Given the description of an element on the screen output the (x, y) to click on. 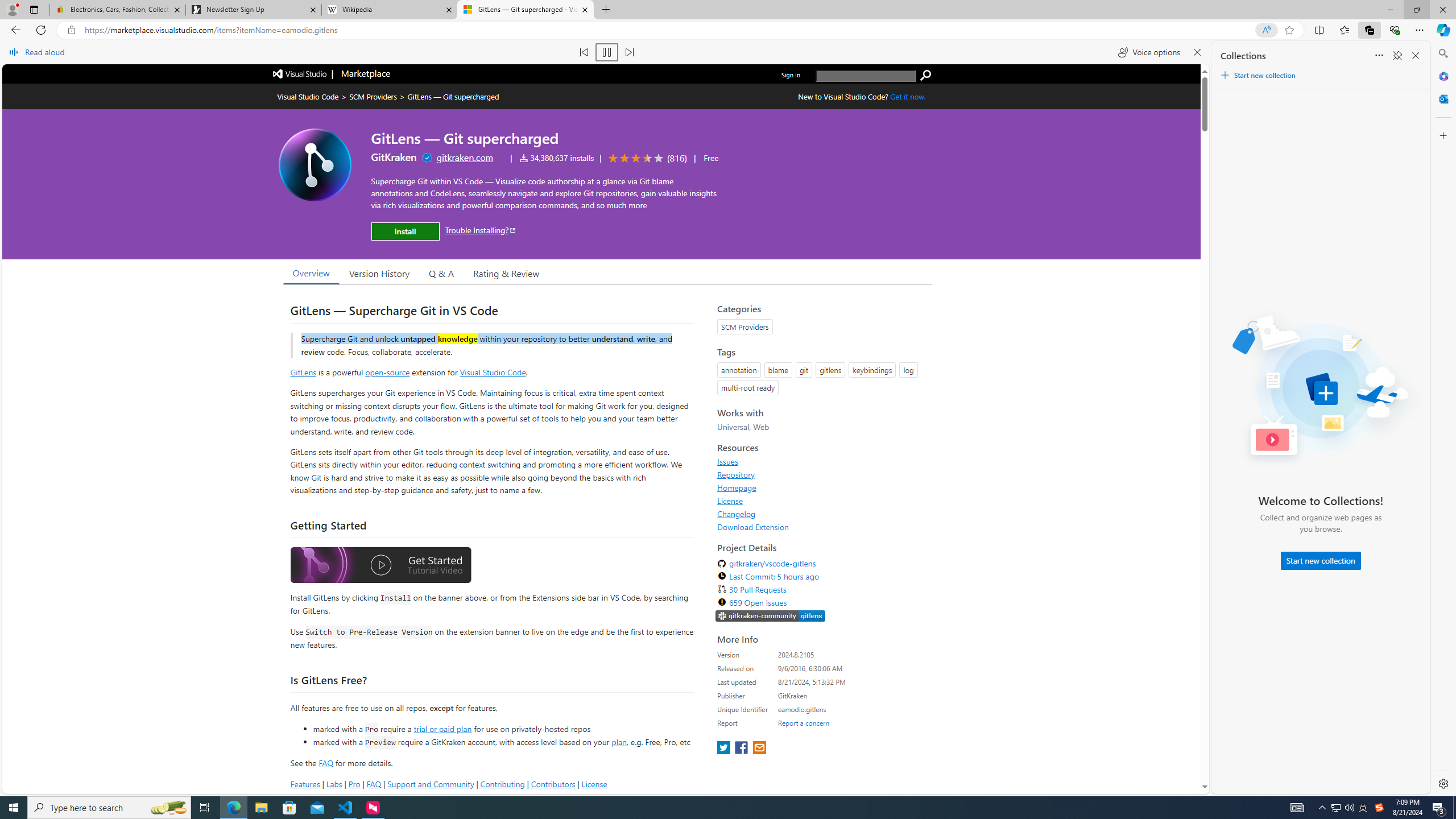
Report a concern (803, 722)
Read next paragraph (628, 52)
Visual Studio logo Marketplace logo (330, 73)
Watch the GitLens Getting Started video (380, 566)
SCM Providers (373, 96)
Overview (310, 272)
